Given the description of an element on the screen output the (x, y) to click on. 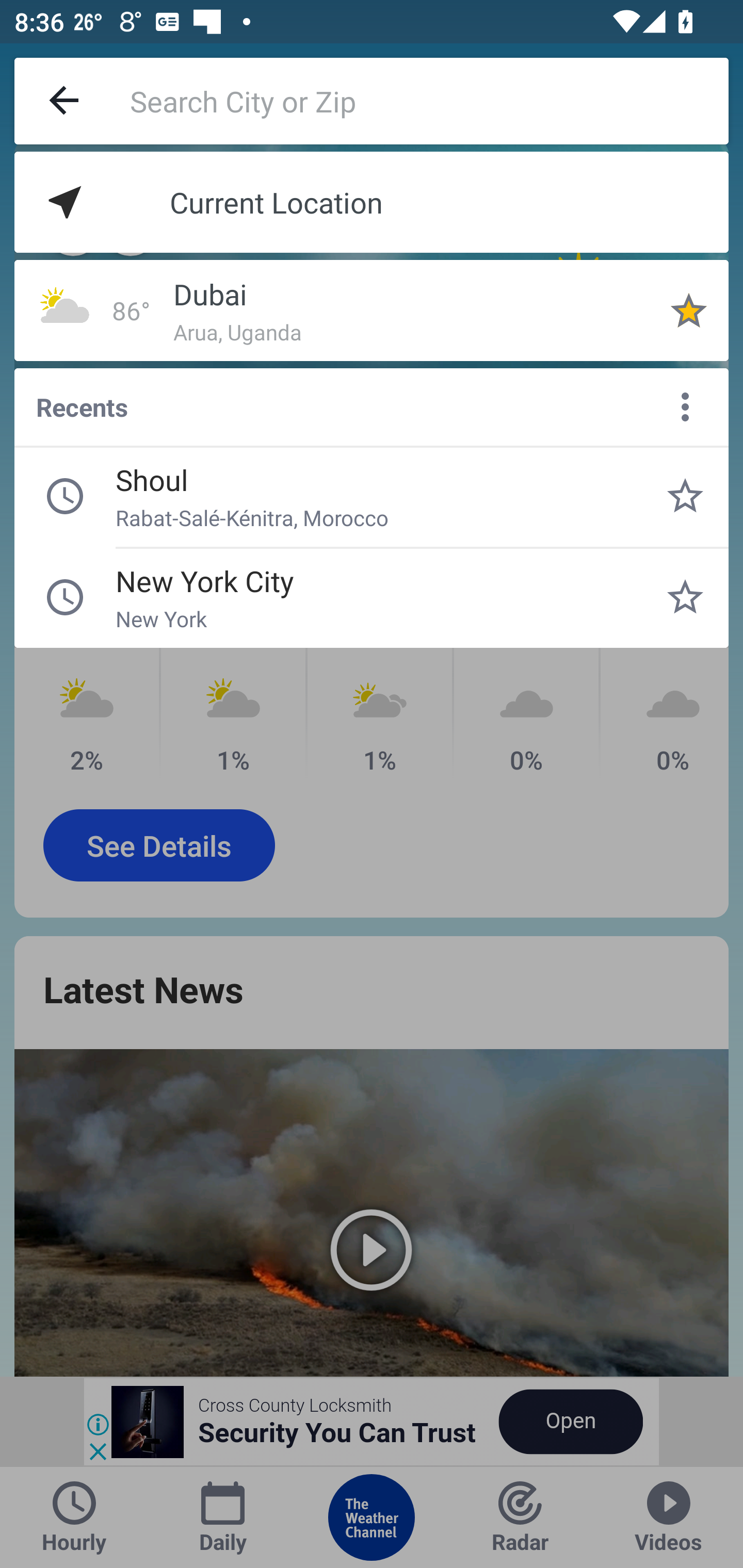
Back (64, 101)
Search City or Zip (429, 100)
Current Location (371, 202)
Dubai Arua, Uganda Remove from favorites (688, 310)
more (685, 406)
Shoul Rabat-Salé-Kénitra, Morocco Add to favorites (684, 496)
New York City New York Add to favorites (684, 597)
